Given the description of an element on the screen output the (x, y) to click on. 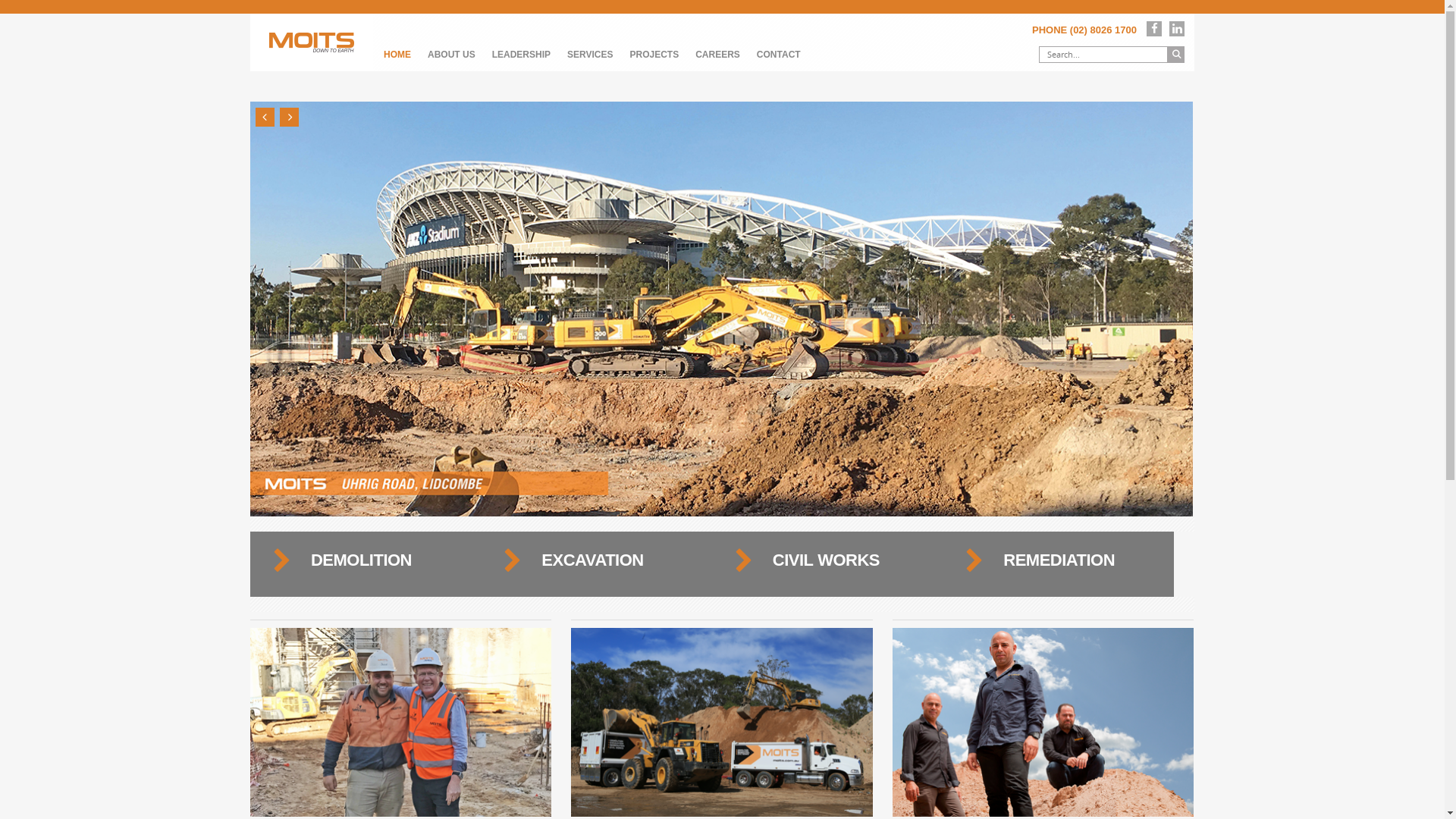
EXCAVATION Element type: text (592, 559)
CONTACT Element type: text (778, 54)
WEB-HOME-SLIDE_02 Element type: hover (721, 308)
PROJECTS Element type: text (653, 54)
CIVIL WORKS Element type: text (825, 559)
REMEDIATION Element type: text (1058, 559)
DEMOLITION Element type: text (360, 559)
ABOUT US Element type: text (451, 54)
HOME Element type: text (397, 54)
PHONE (02) 8026 1700 Element type: text (1084, 29)
CAREERS Element type: text (717, 54)
SERVICES Element type: text (589, 54)
LEADERSHIP Element type: text (521, 54)
